Given the description of an element on the screen output the (x, y) to click on. 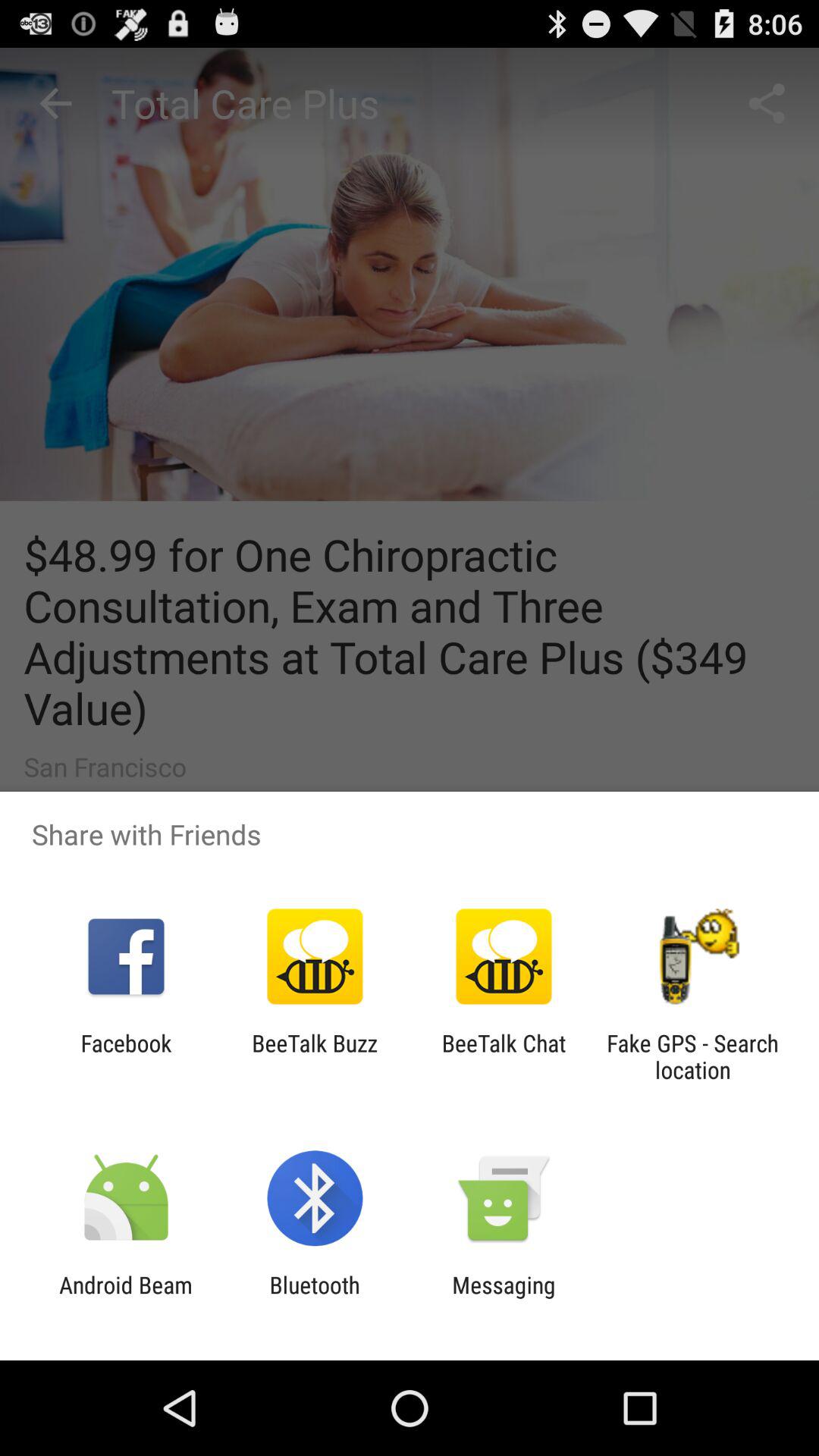
choose fake gps search item (692, 1056)
